Given the description of an element on the screen output the (x, y) to click on. 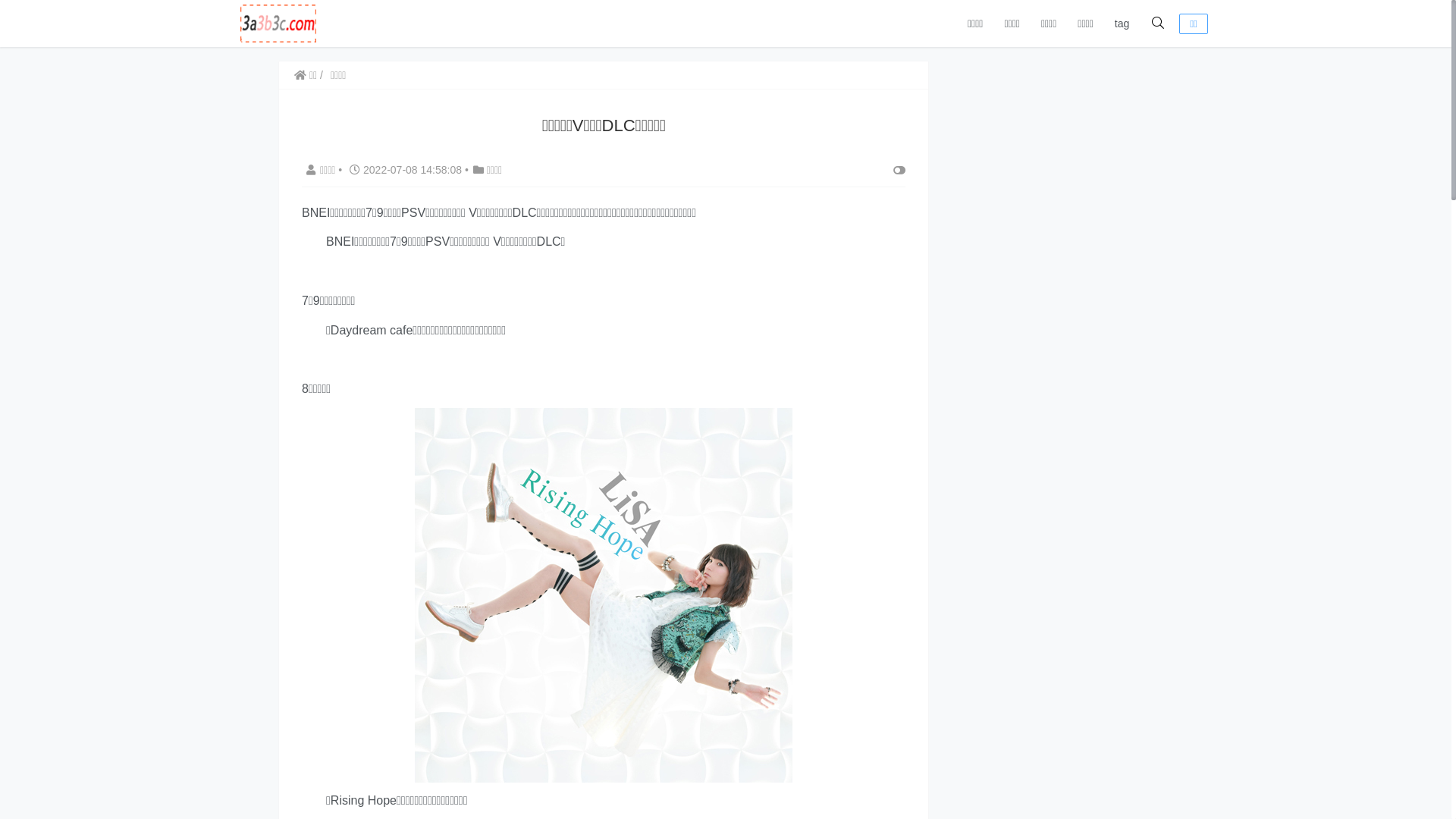
tag Element type: text (1121, 23)
